Given the description of an element on the screen output the (x, y) to click on. 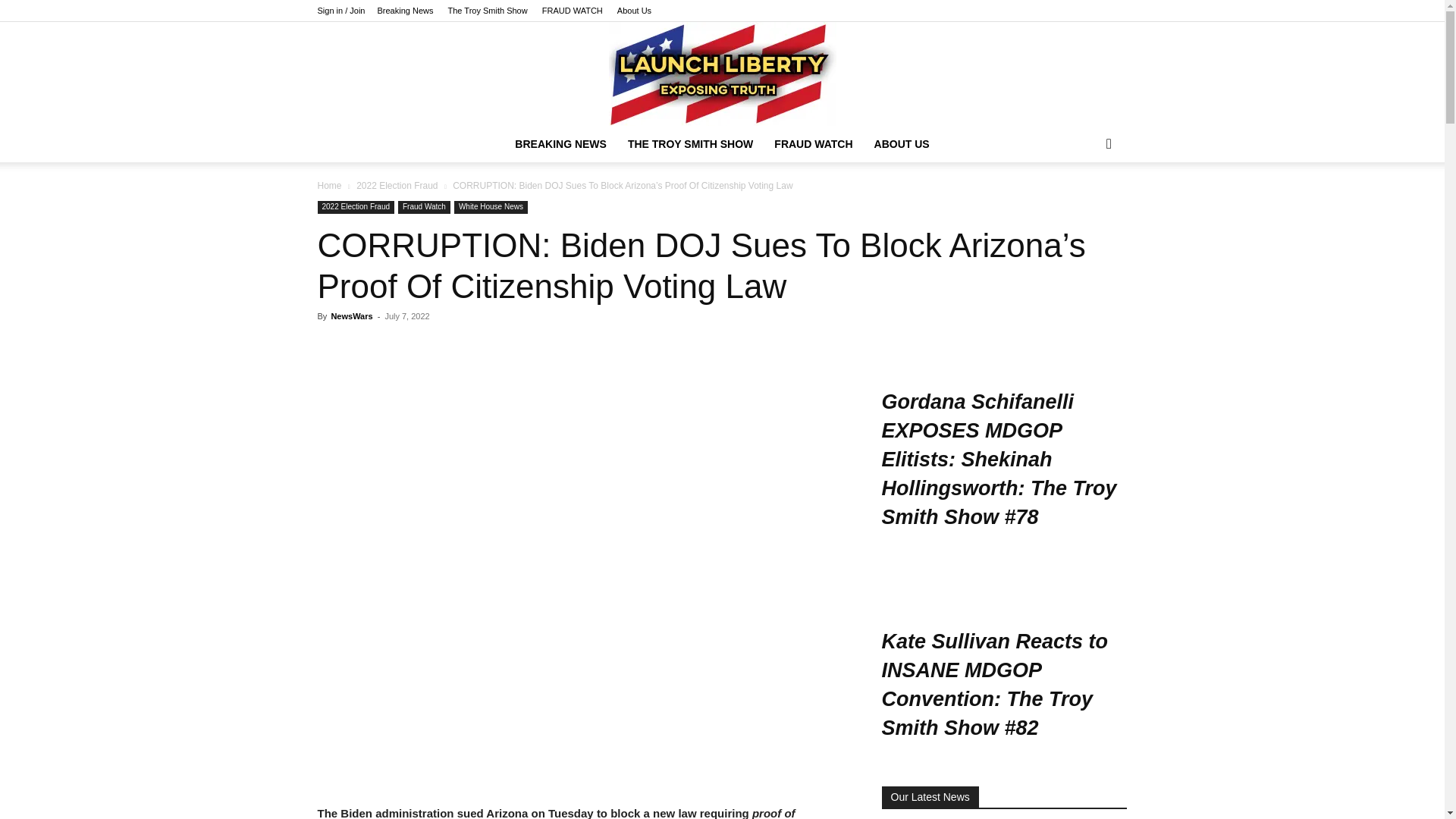
ABOUT US (901, 144)
2022 Election Fraud (397, 185)
Search (1085, 204)
2022 Election Fraud (355, 206)
BREAKING NEWS (560, 144)
About Us (633, 10)
Fraud Watch (423, 206)
FRAUD WATCH (571, 10)
The Troy Smith Show (487, 10)
NewsWars (351, 316)
